Given the description of an element on the screen output the (x, y) to click on. 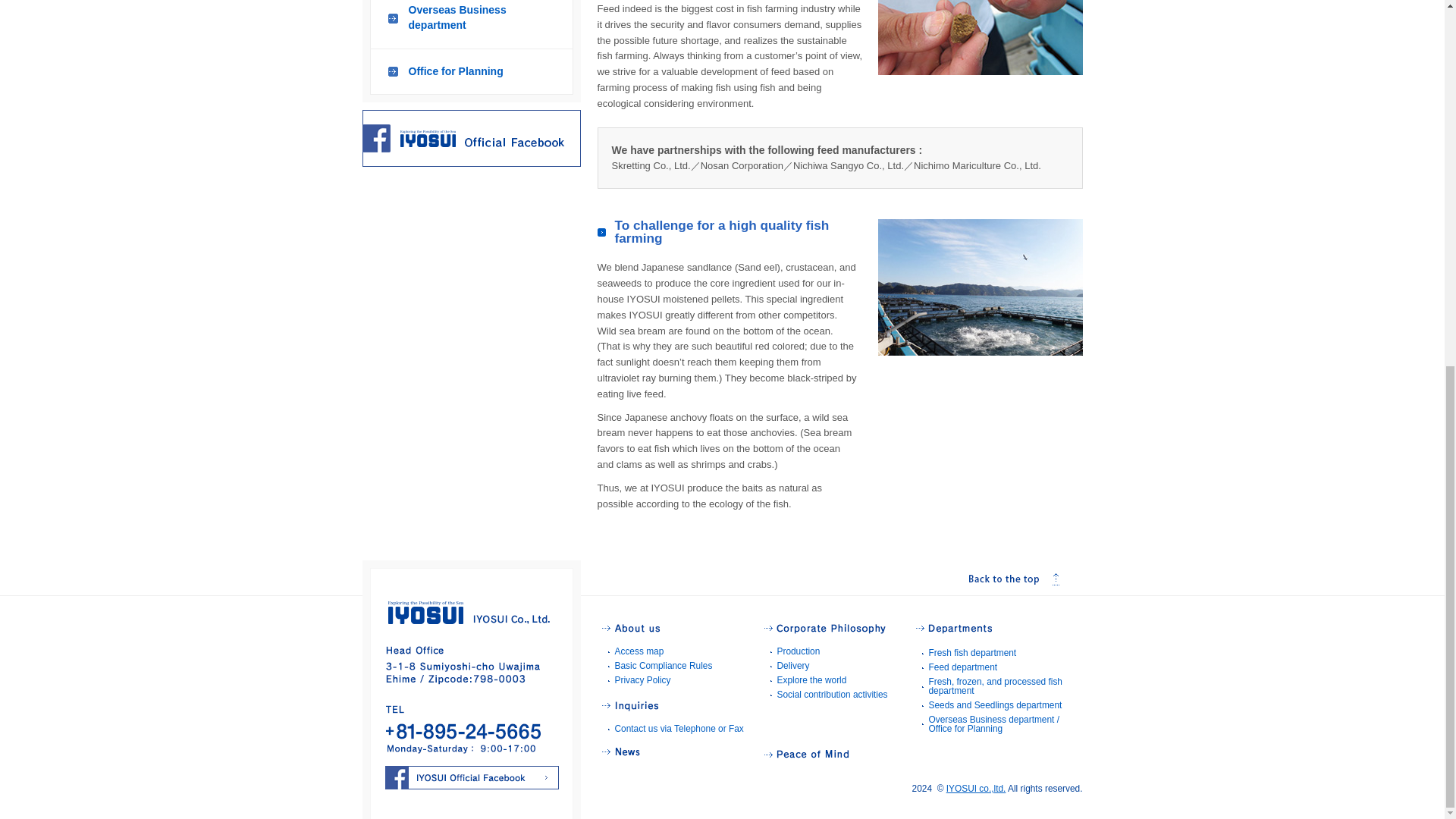
Feed department (962, 666)
Contact us via Telephone or Fax (678, 728)
Basic Compliance Rules (662, 665)
Explore the world (810, 679)
Social contribution activities (831, 694)
Seeds and Seedlings department (994, 705)
Office for Planning (471, 72)
Access map (638, 651)
Delivery (792, 665)
Fresh, frozen, and processed fish department (994, 686)
